Given the description of an element on the screen output the (x, y) to click on. 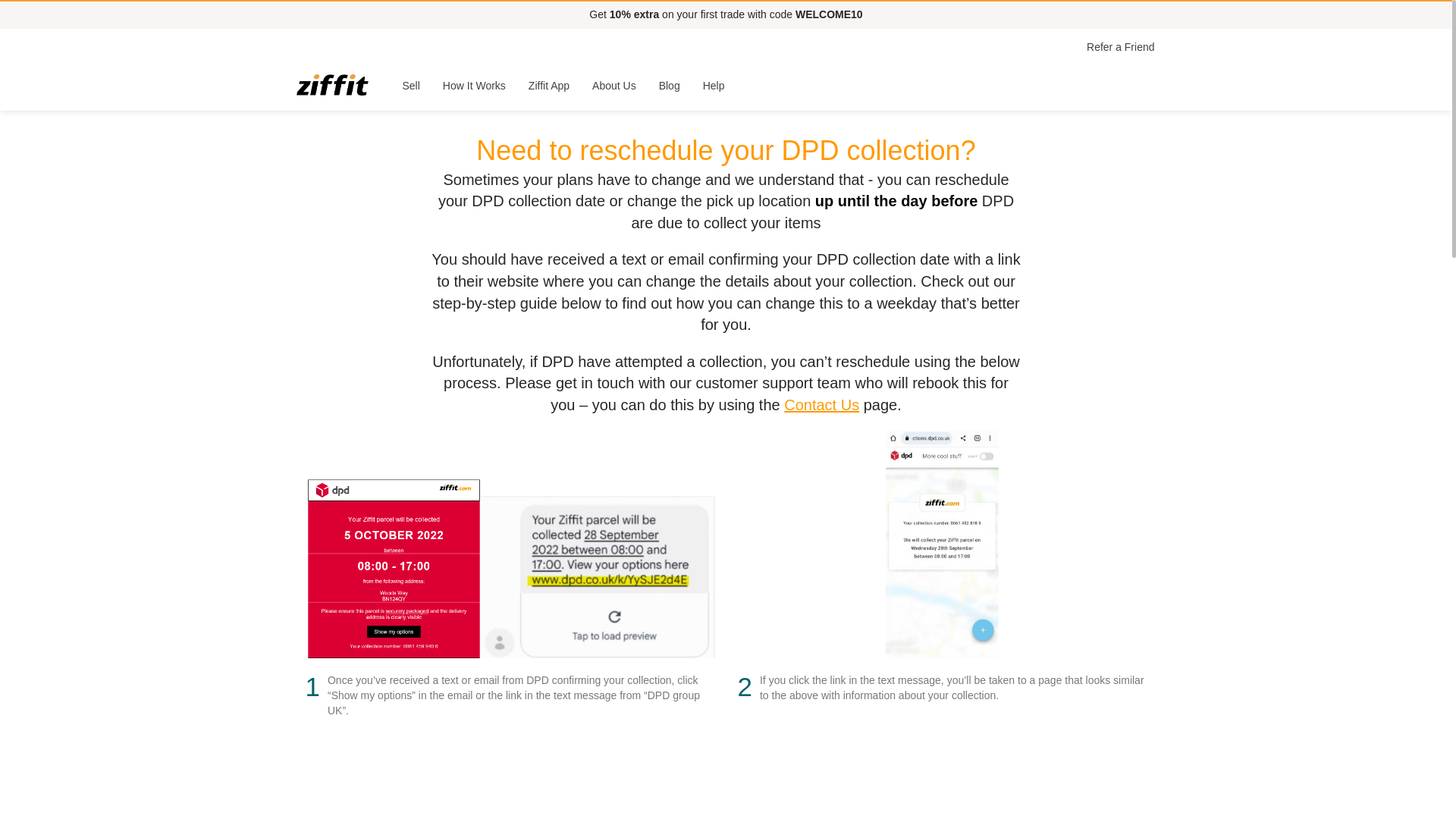
How It Works (473, 85)
Refer a Friend (1120, 46)
Contact Us (821, 404)
Blog (669, 85)
Ziffit App (548, 85)
Help (713, 85)
About Us (613, 85)
